Given the description of an element on the screen output the (x, y) to click on. 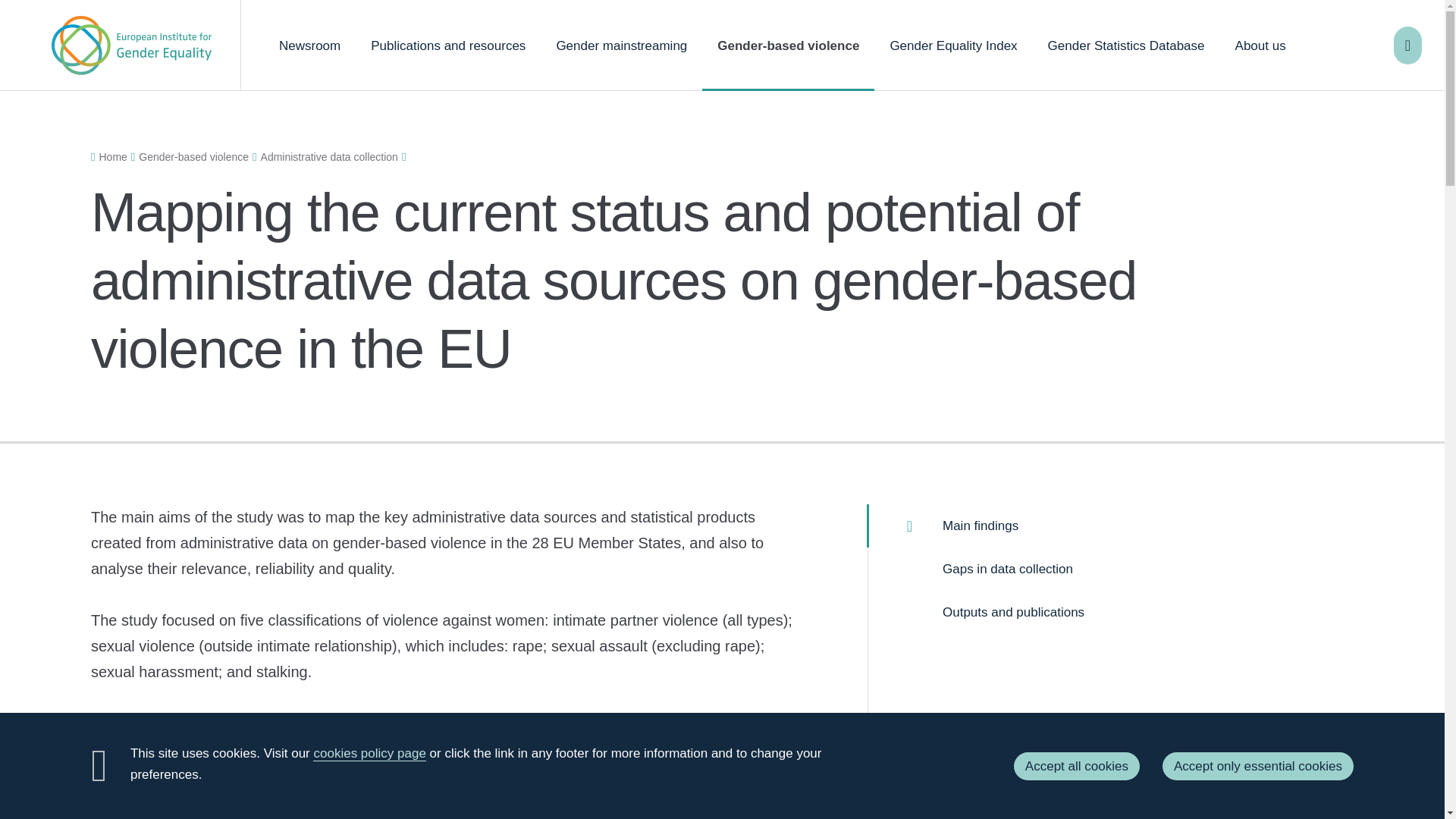
Accept only essential cookies (1257, 766)
Newsroom (309, 45)
Gender mainstreaming (620, 45)
European Institute for Gender Equality (130, 45)
Publications and resources (447, 45)
cookies policy page (369, 753)
Accept all cookies (1076, 766)
